Given the description of an element on the screen output the (x, y) to click on. 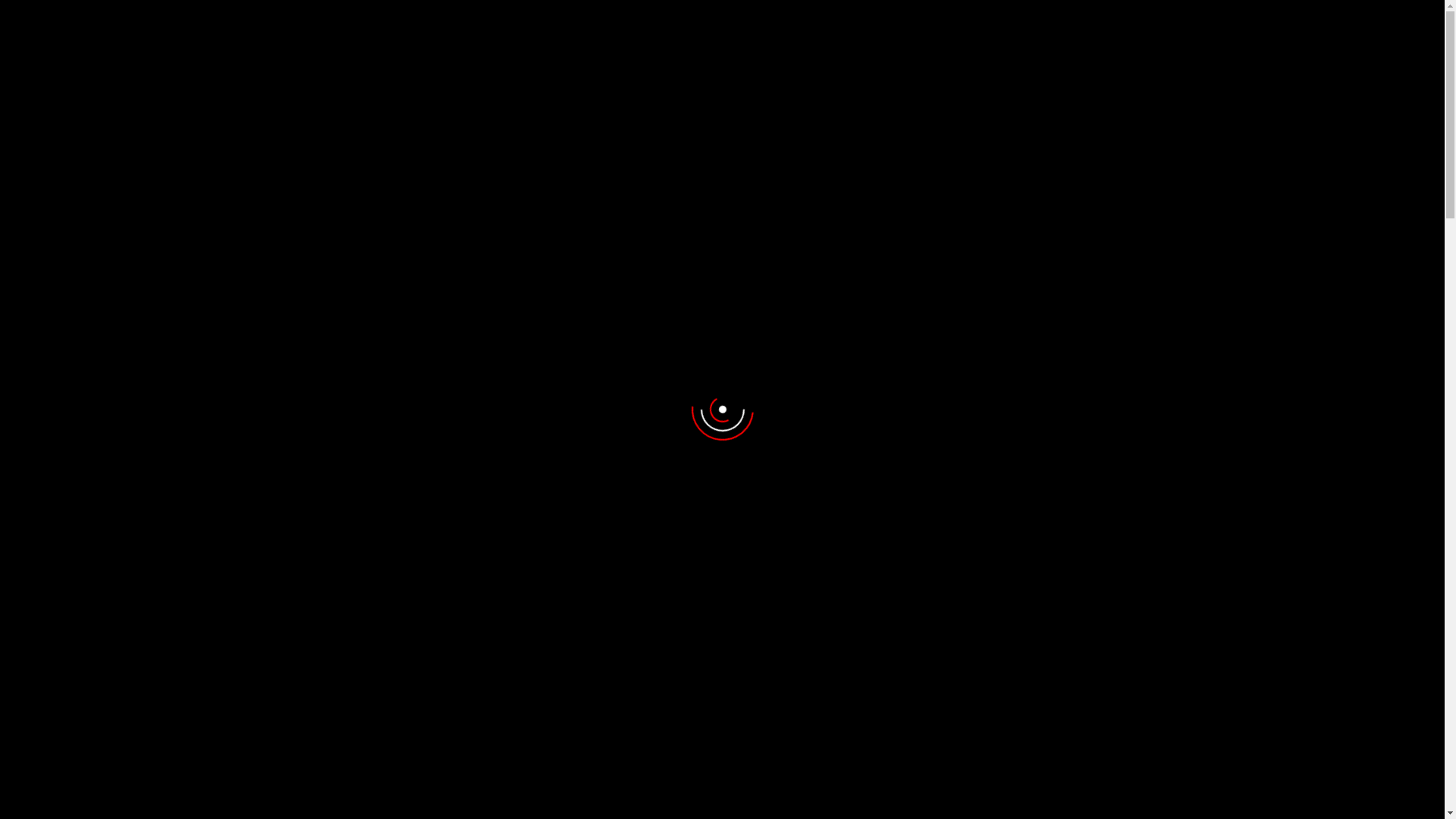
01553-747757 Element type: text (408, 13)
bandarbantsc@gmail.com Element type: text (551, 13)
Home Element type: hover (418, 111)
